Given the description of an element on the screen output the (x, y) to click on. 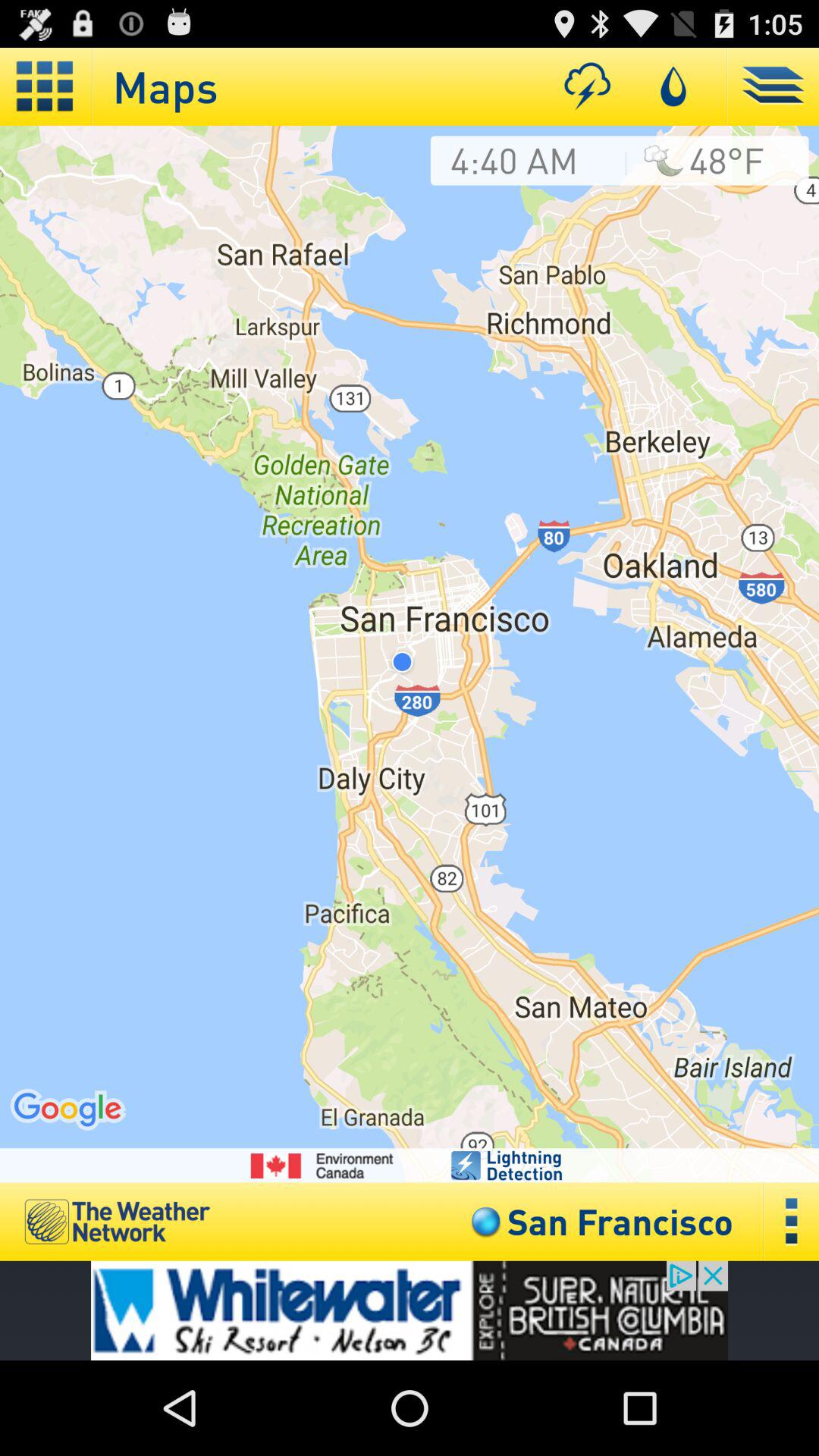
over view option (791, 1221)
